Given the description of an element on the screen output the (x, y) to click on. 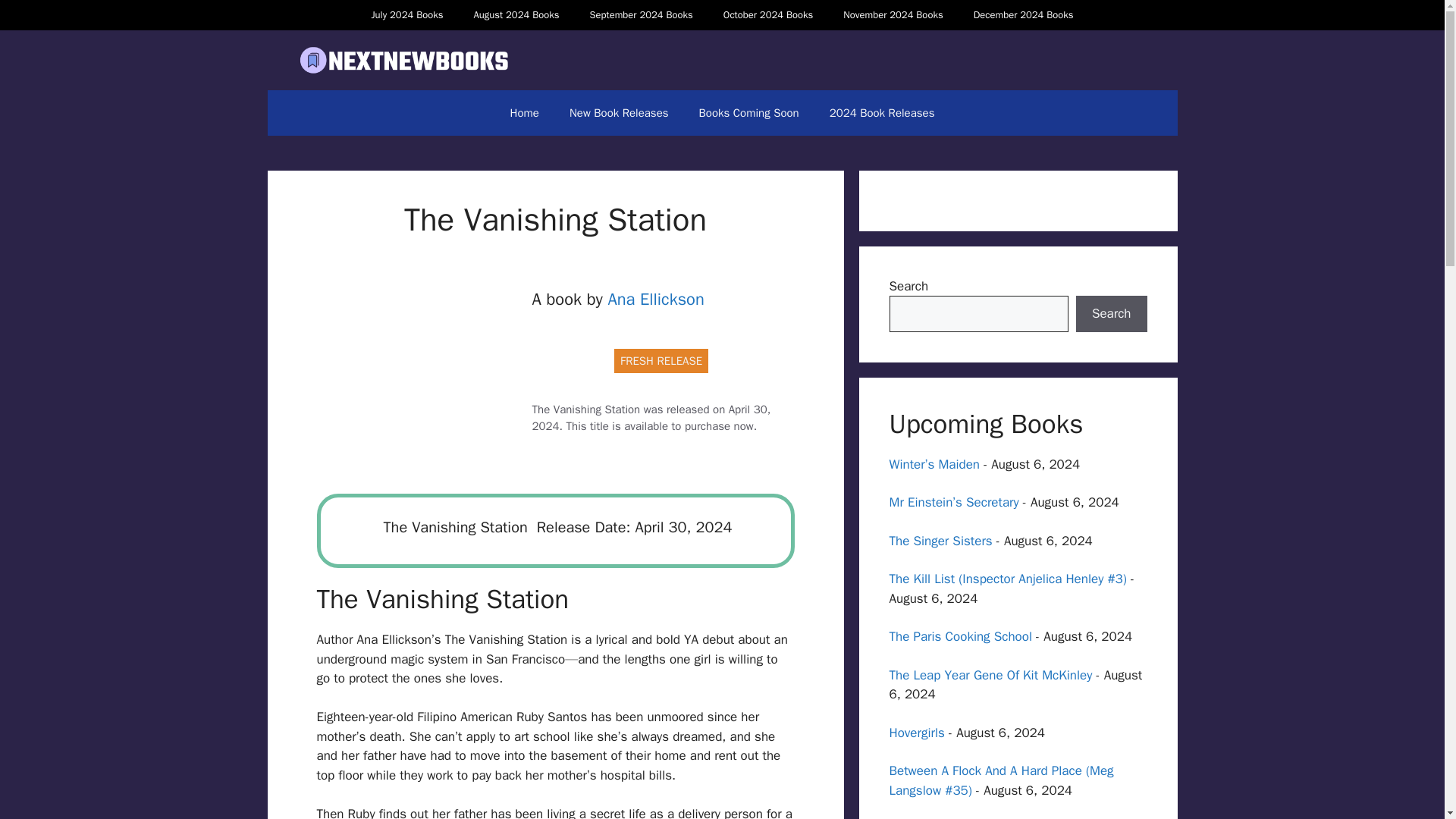
November 2024 Books (893, 15)
August 2024 Books (515, 15)
2024 Book Releases (881, 112)
December 2024 Books (1023, 15)
Books Coming Soon (748, 112)
September 2024 Books (640, 15)
Home (524, 112)
July 2024 Books (406, 15)
October 2024 Books (767, 15)
New Book Releases (619, 112)
